Given the description of an element on the screen output the (x, y) to click on. 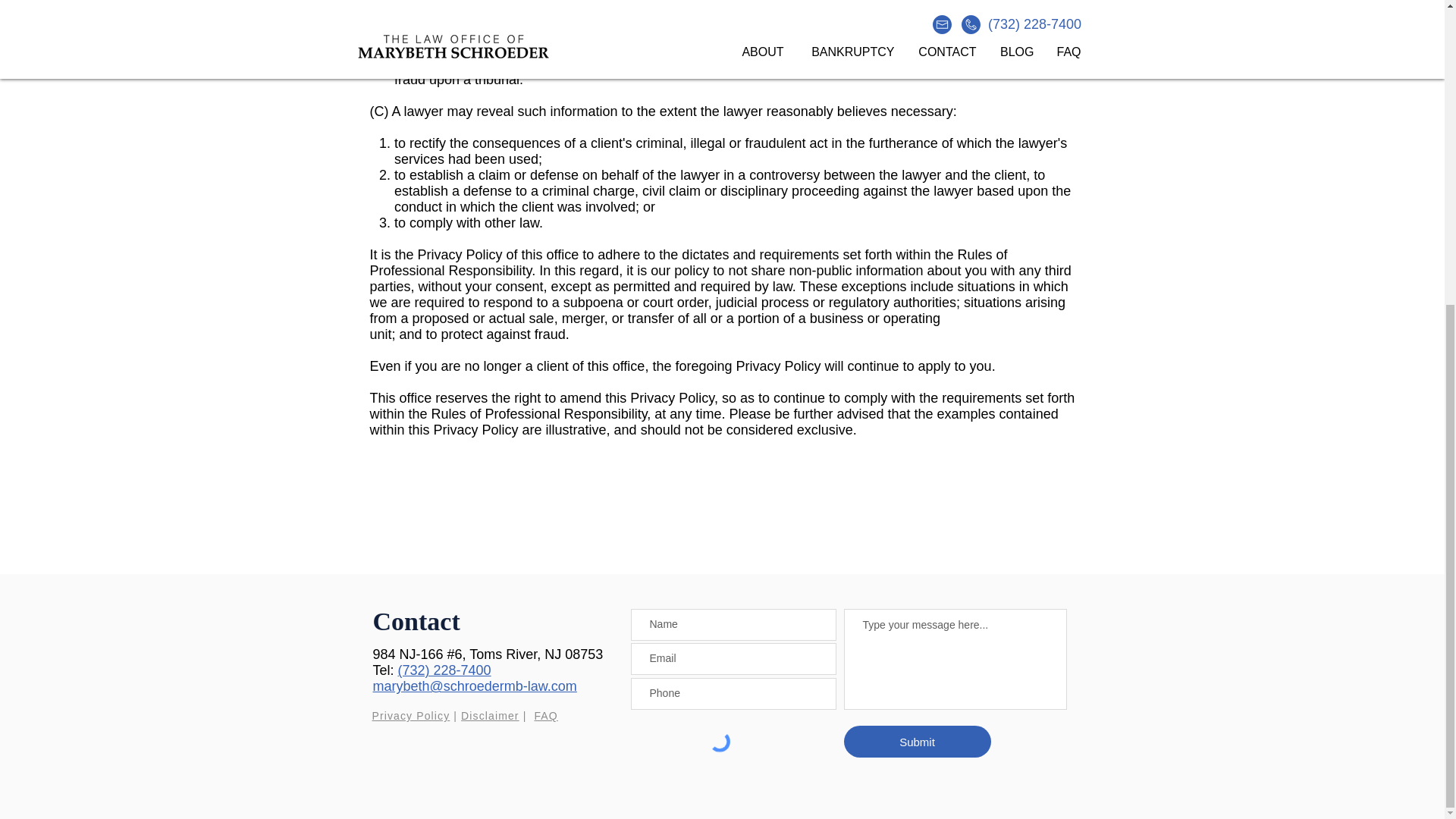
Disclaimer (490, 715)
Submit (916, 741)
Contact (416, 621)
FAQ (545, 715)
Privacy Policy (410, 715)
